Given the description of an element on the screen output the (x, y) to click on. 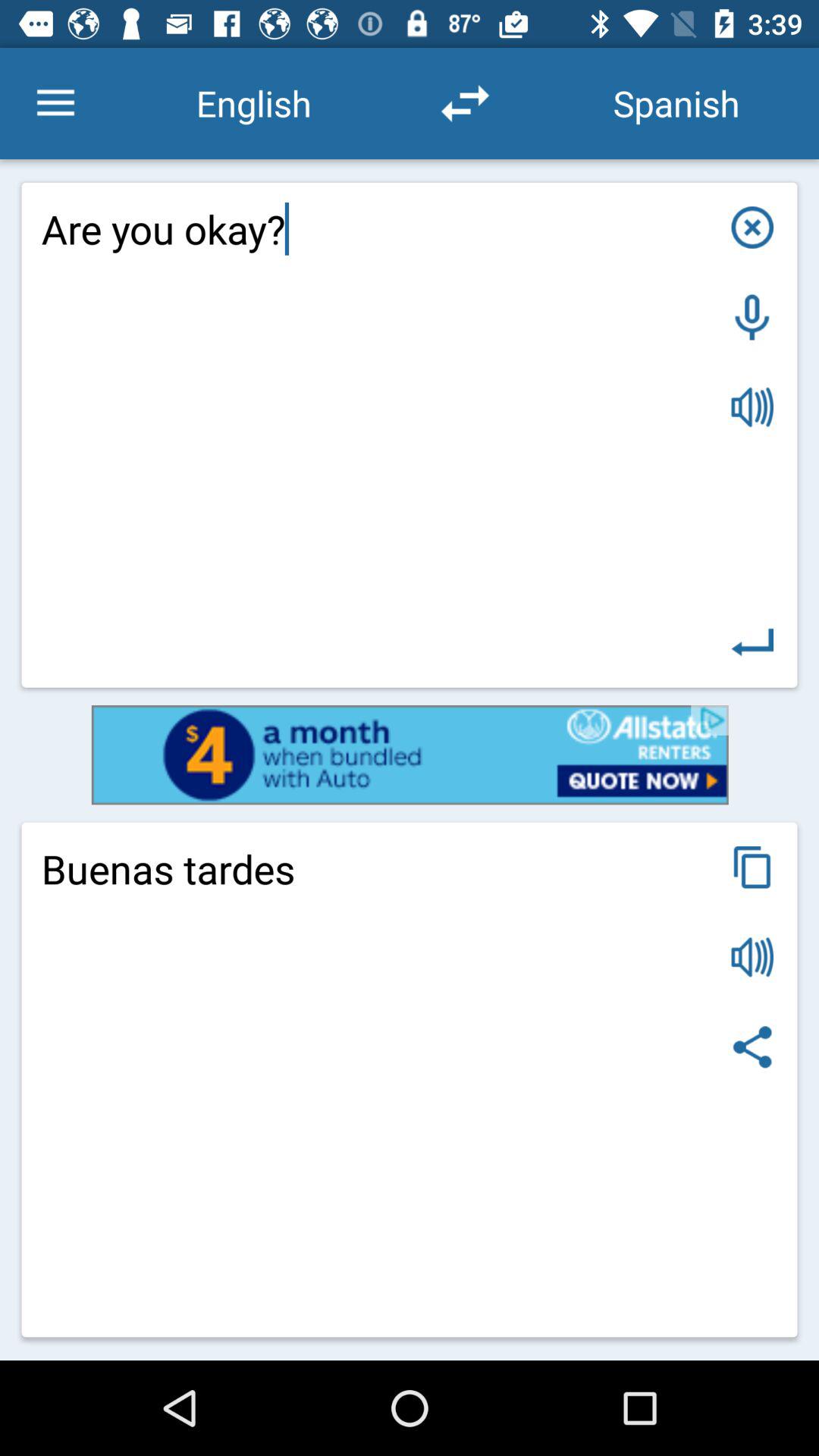
advertisement (409, 754)
